Given the description of an element on the screen output the (x, y) to click on. 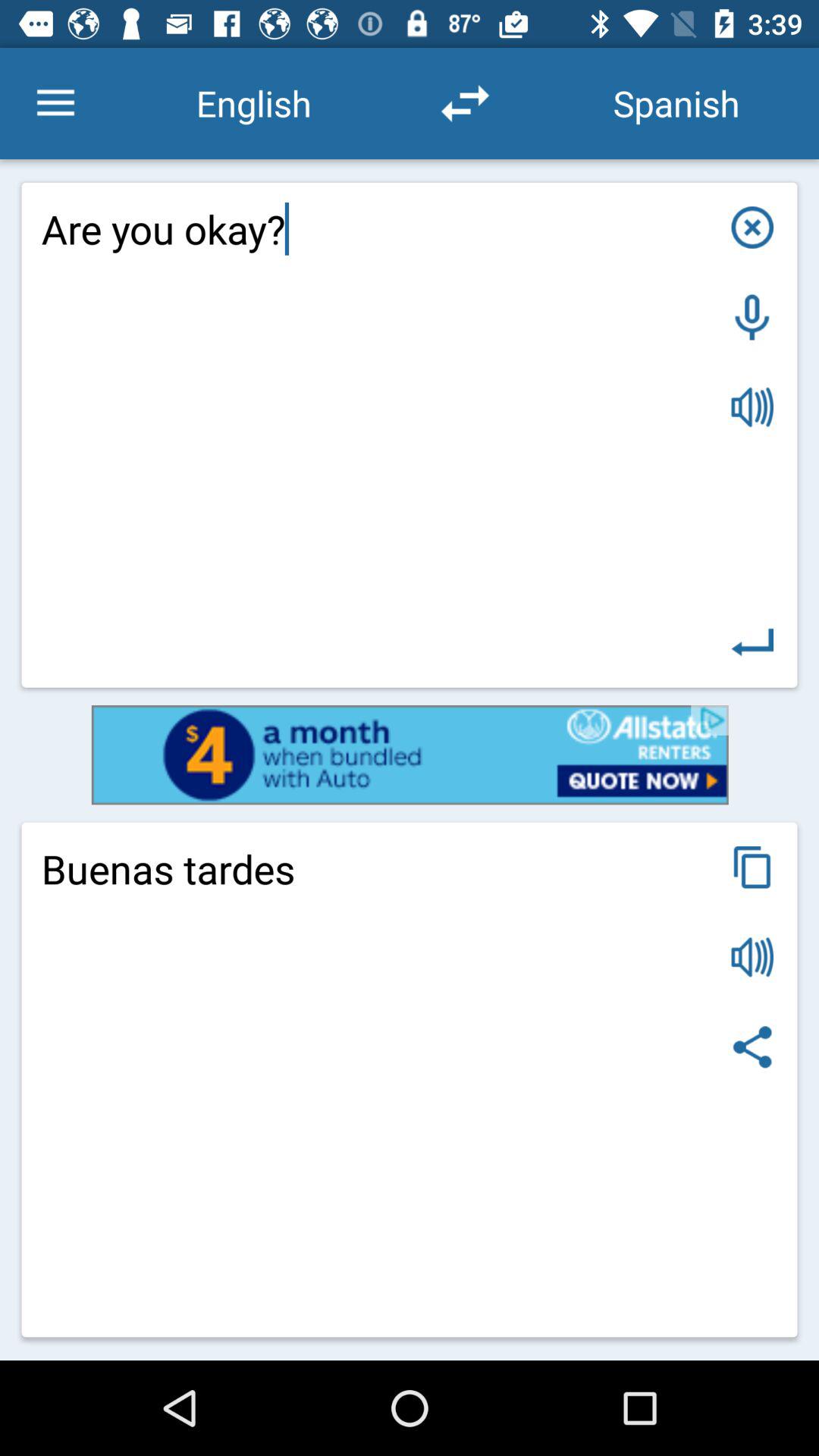
advertisement (409, 754)
